Given the description of an element on the screen output the (x, y) to click on. 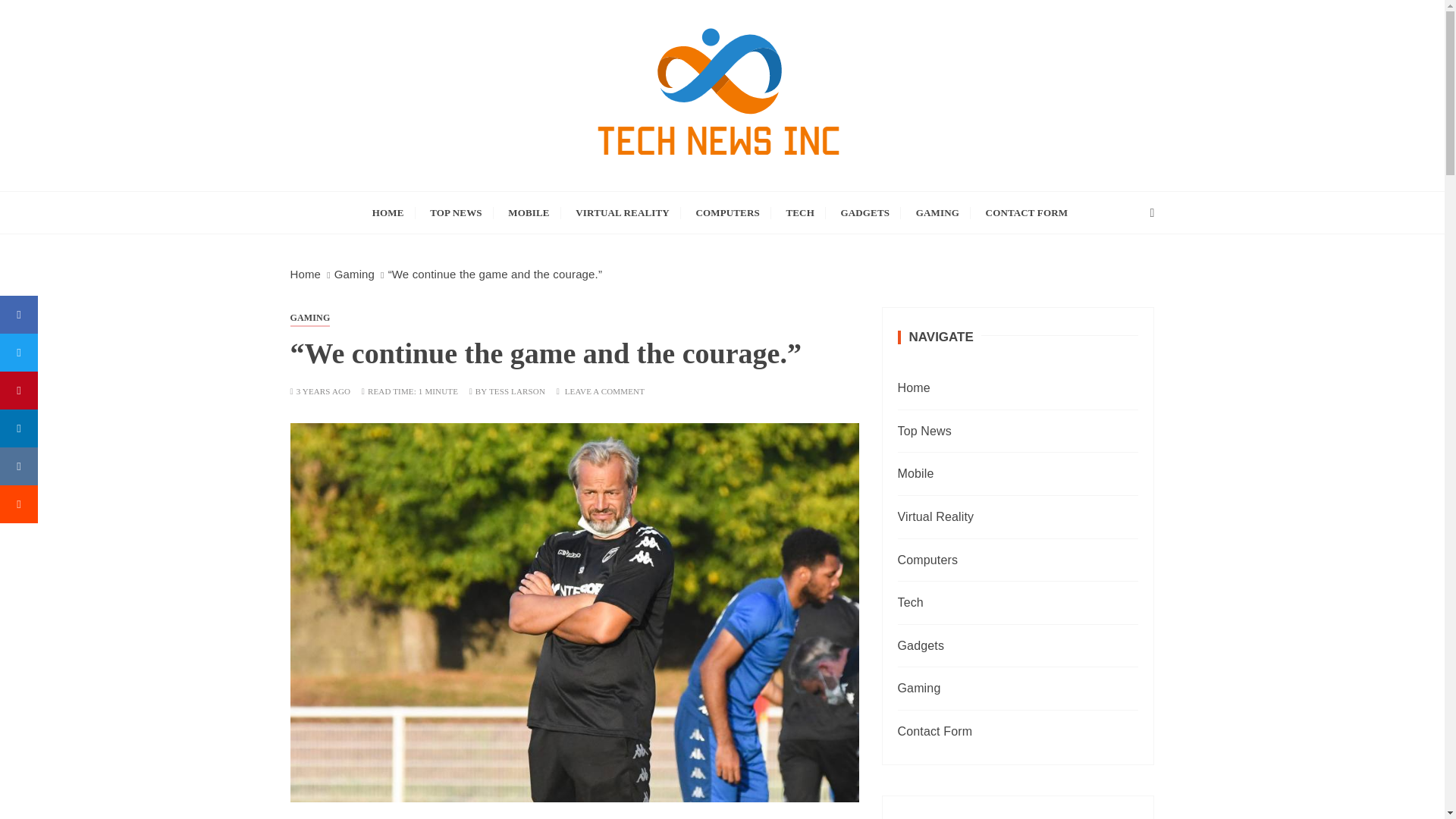
VIRTUAL REALITY (622, 212)
LEAVE A COMMENT (604, 391)
TECH (799, 212)
GAMING (937, 212)
MOBILE (528, 212)
Gaming (354, 273)
Tech News Inc (412, 201)
Home (304, 273)
GADGETS (865, 212)
TOP NEWS (456, 212)
COMPUTERS (727, 212)
HOME (387, 212)
TESS LARSON (516, 391)
CONTACT FORM (1027, 212)
GAMING (309, 317)
